Given the description of an element on the screen output the (x, y) to click on. 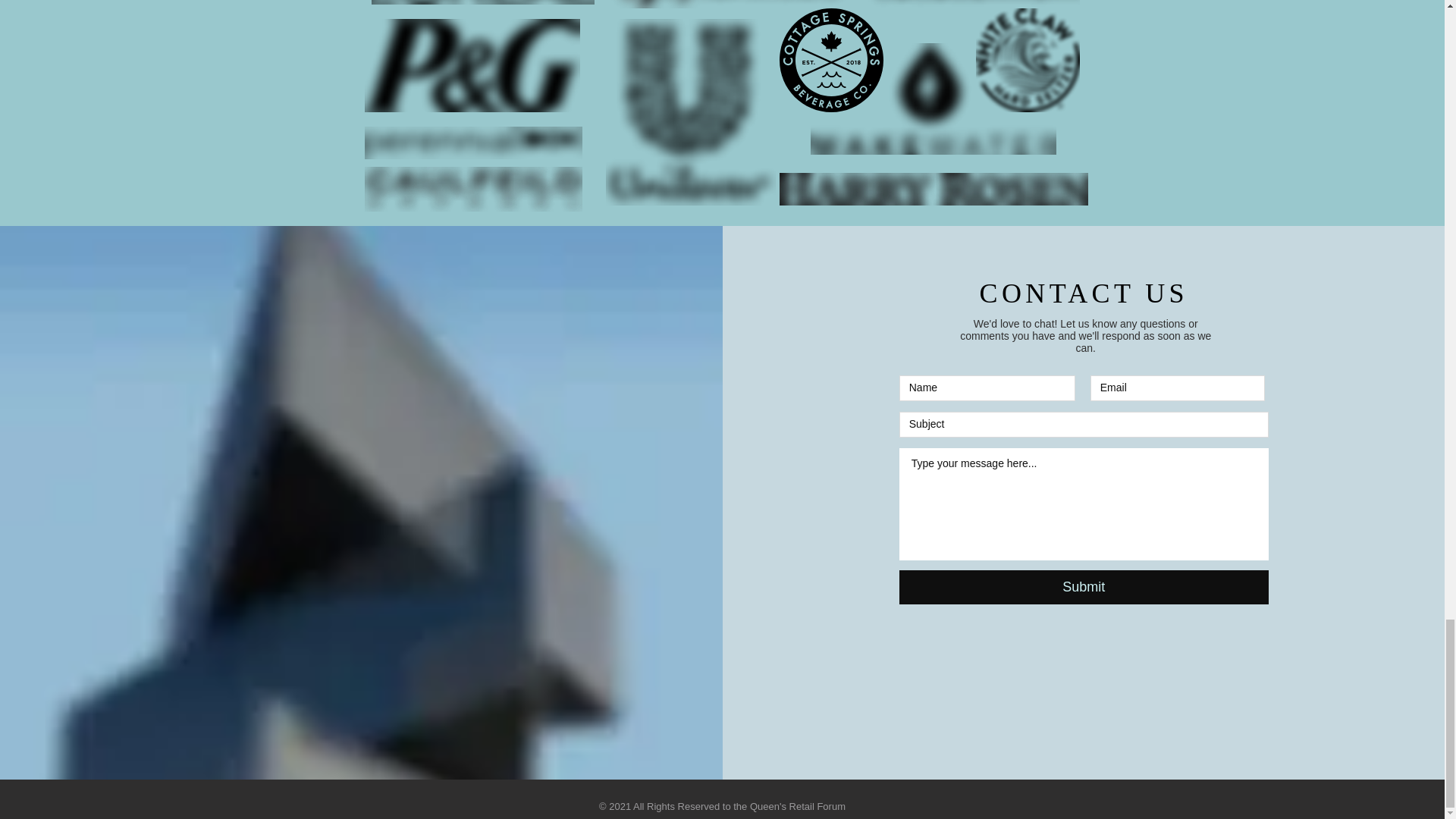
Submit (1083, 587)
image.png (482, 2)
image.png (1026, 60)
unilever-logo-black-and-white.png (689, 111)
pglogo.png (471, 65)
